Given the description of an element on the screen output the (x, y) to click on. 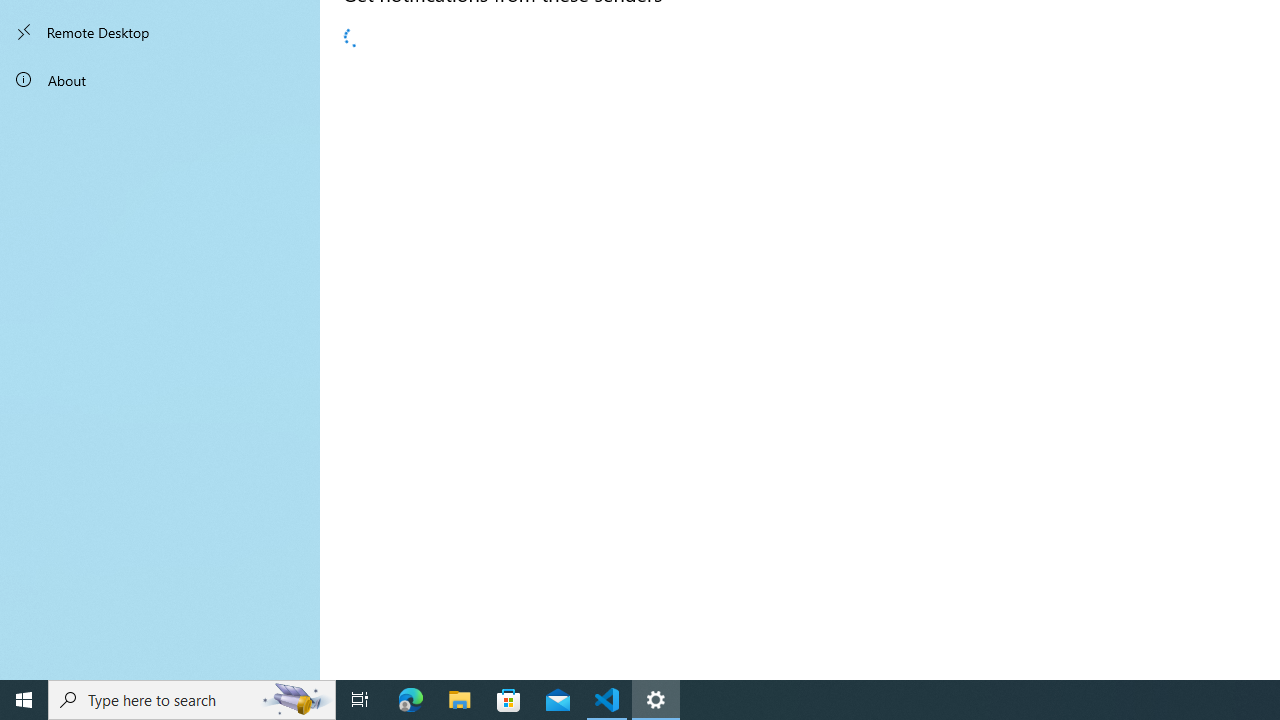
About (160, 79)
Snip & Sketch (561, 391)
Skype (561, 232)
